Given the description of an element on the screen output the (x, y) to click on. 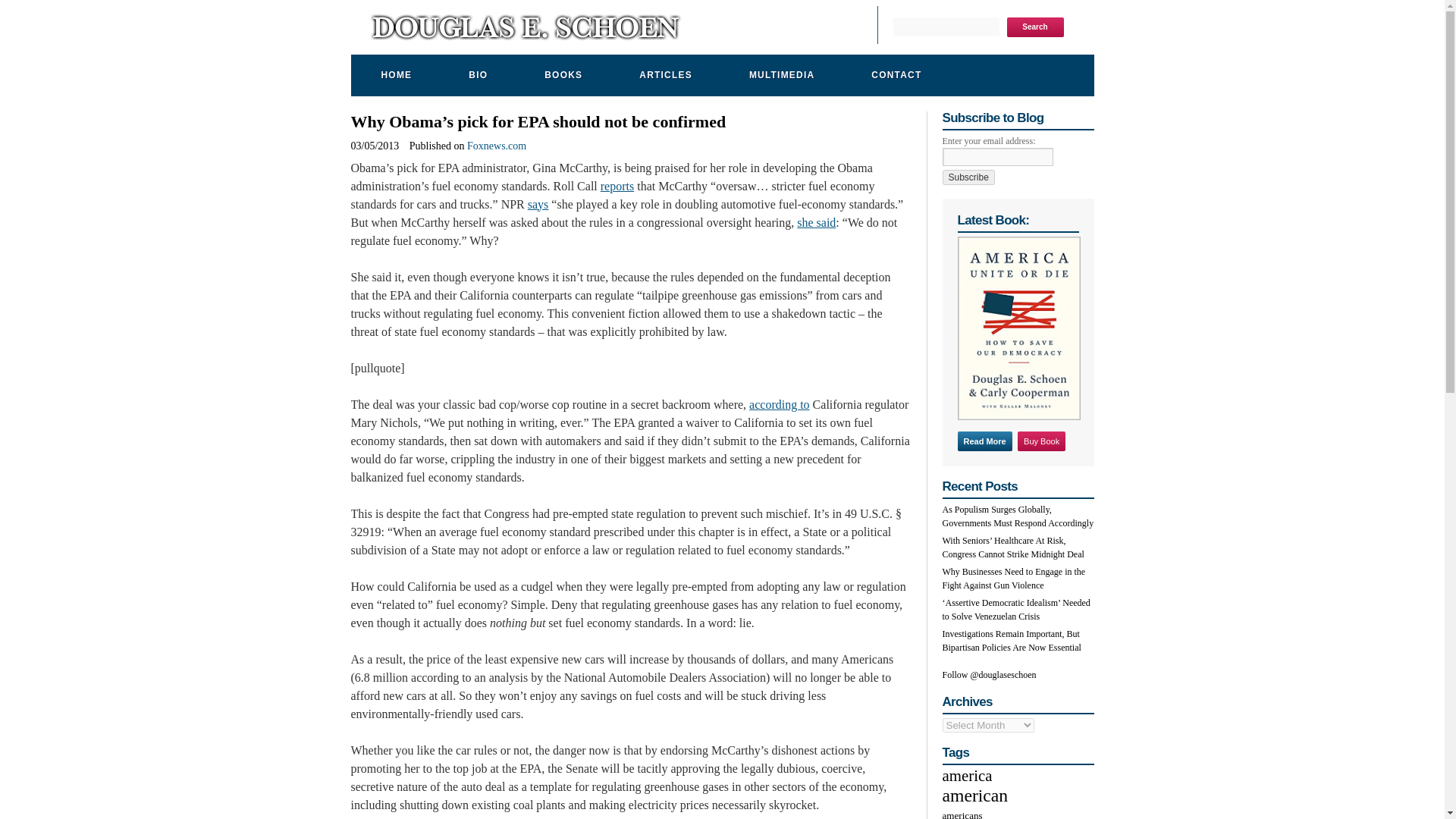
Search (1035, 26)
Facebook (794, 29)
HOME (394, 75)
Search (1035, 26)
Subscribe (968, 177)
she said (815, 222)
Douglas E. Schoen (524, 33)
YouTube (835, 29)
Foxnews.com (496, 145)
says (537, 204)
MULTIMEDIA (780, 75)
Linked In (854, 29)
CONTACT (894, 75)
Twitter (813, 29)
according to (779, 404)
